Given the description of an element on the screen output the (x, y) to click on. 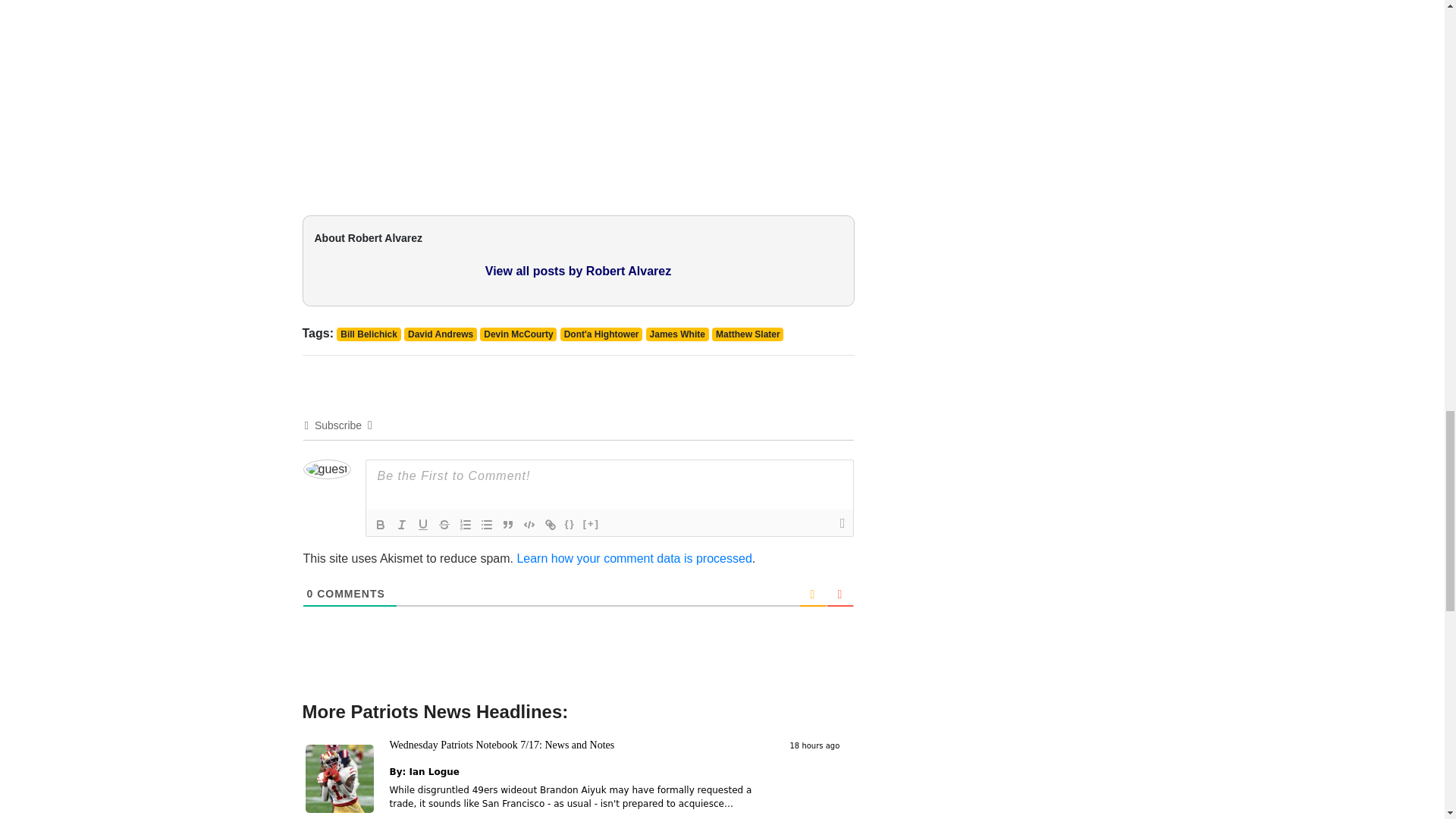
Underline (422, 524)
Code Block (529, 524)
Unordered List (486, 524)
Ordered List (465, 524)
Italic (401, 524)
Bold (380, 524)
Blockquote (507, 524)
Strike (443, 524)
